Given the description of an element on the screen output the (x, y) to click on. 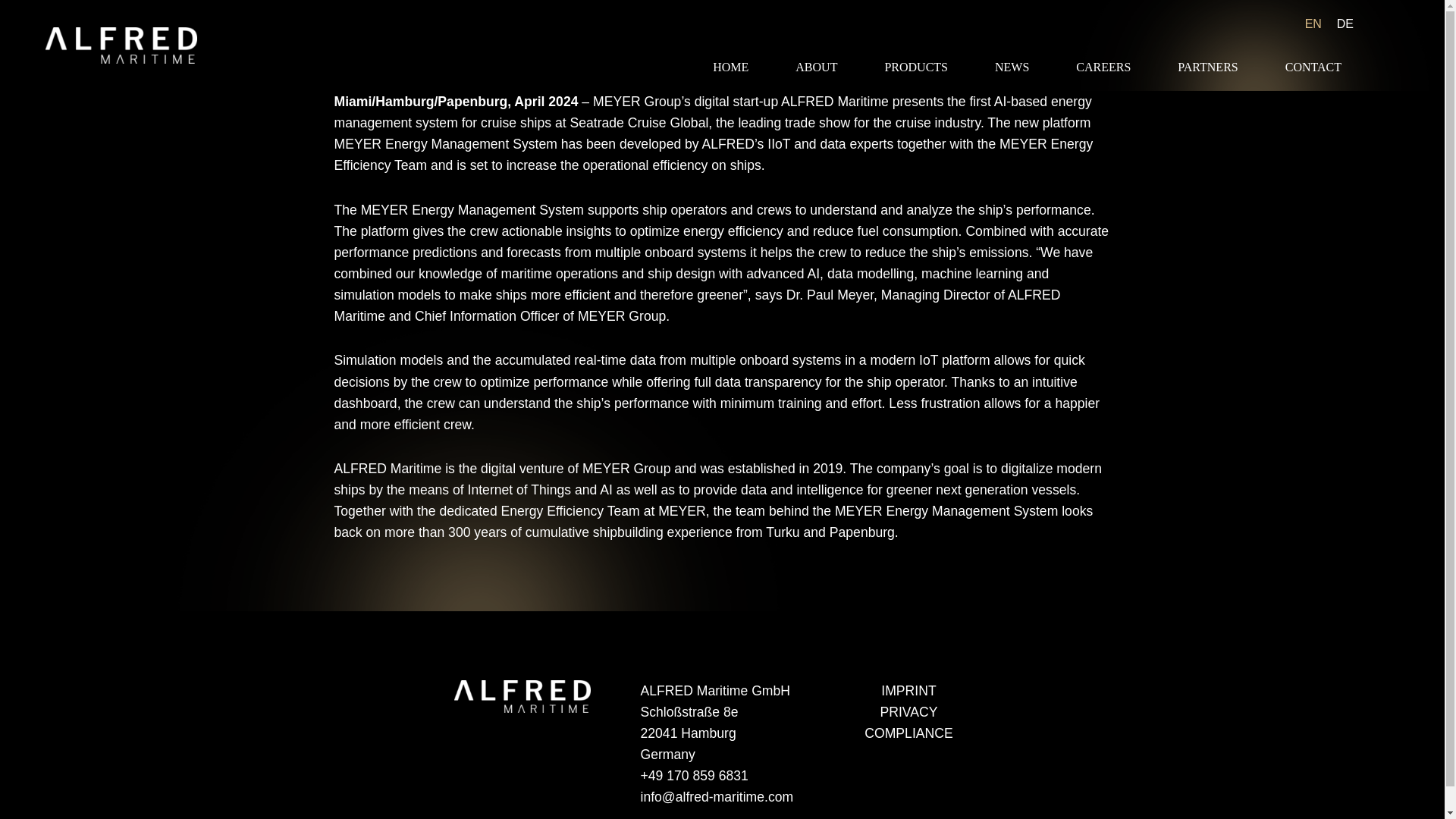
ABOUT (815, 66)
EN (1313, 23)
PRODUCTS (915, 66)
NEWS (1011, 66)
HOME (730, 66)
COMPLIANCE (908, 733)
PRIVACY (908, 711)
DE (1345, 23)
IMPRINT (908, 690)
PARTNERS (1207, 66)
CAREERS (1103, 66)
CONTACT (1313, 66)
